Given the description of an element on the screen output the (x, y) to click on. 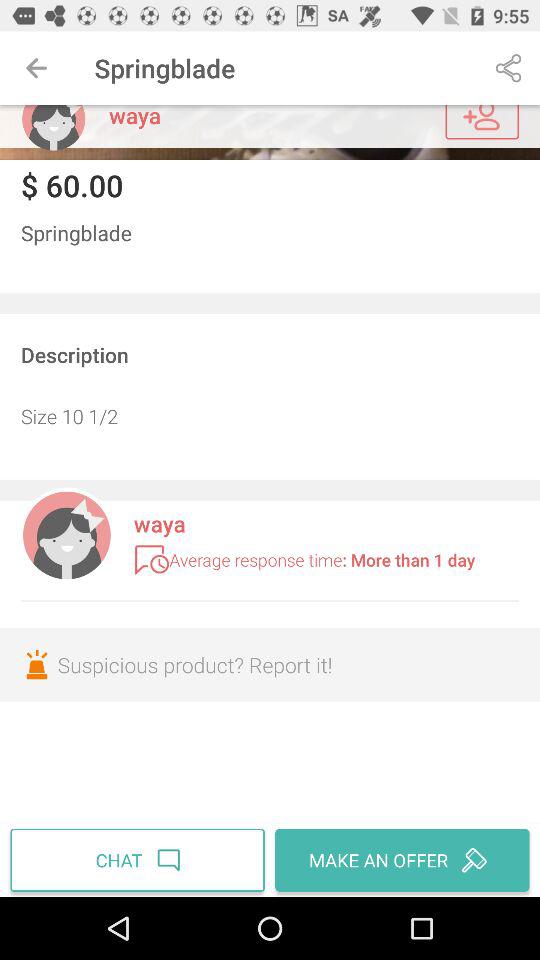
select the item next to the make an offer (139, 860)
